Given the description of an element on the screen output the (x, y) to click on. 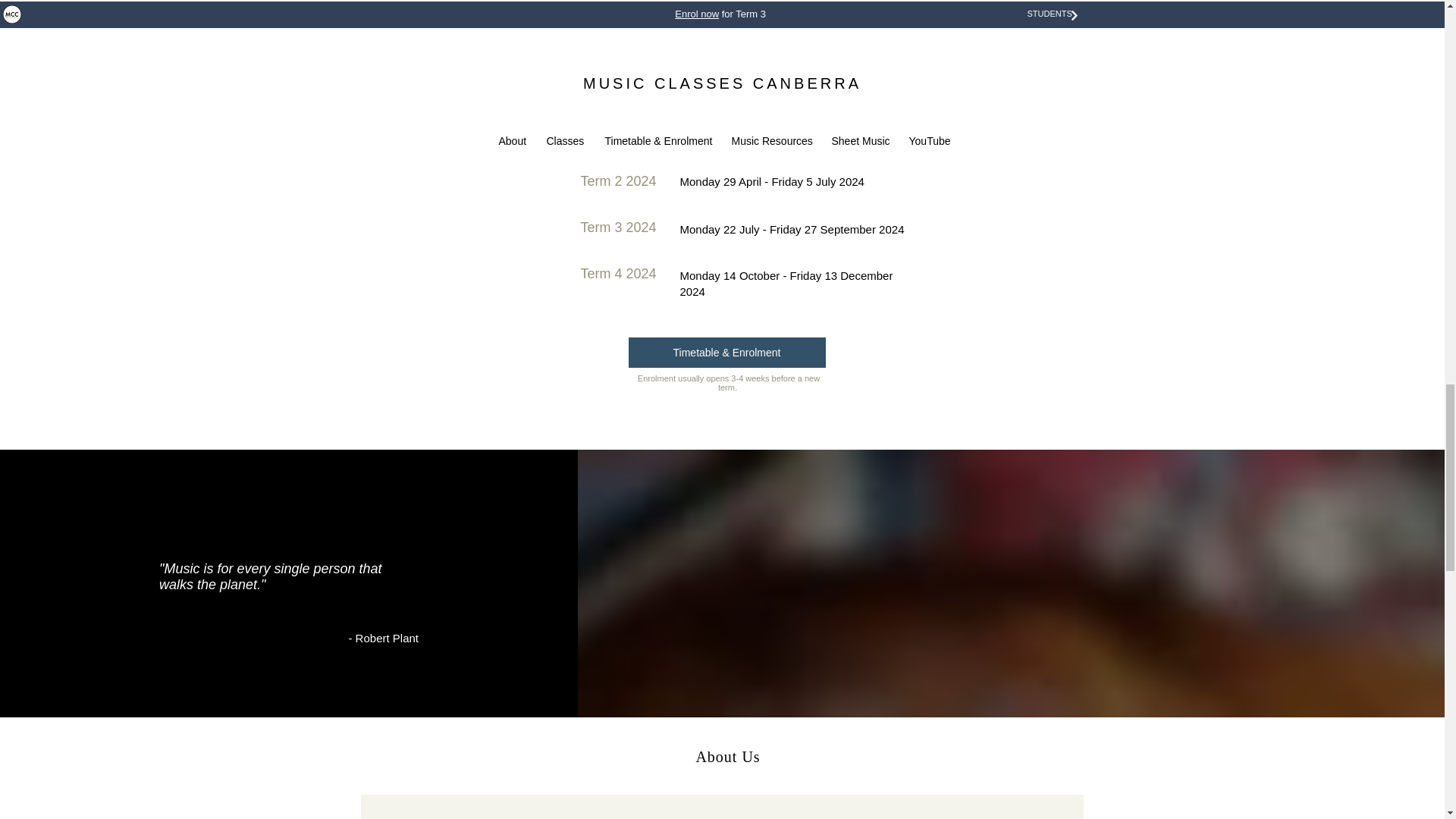
Learn More (592, 9)
